Given the description of an element on the screen output the (x, y) to click on. 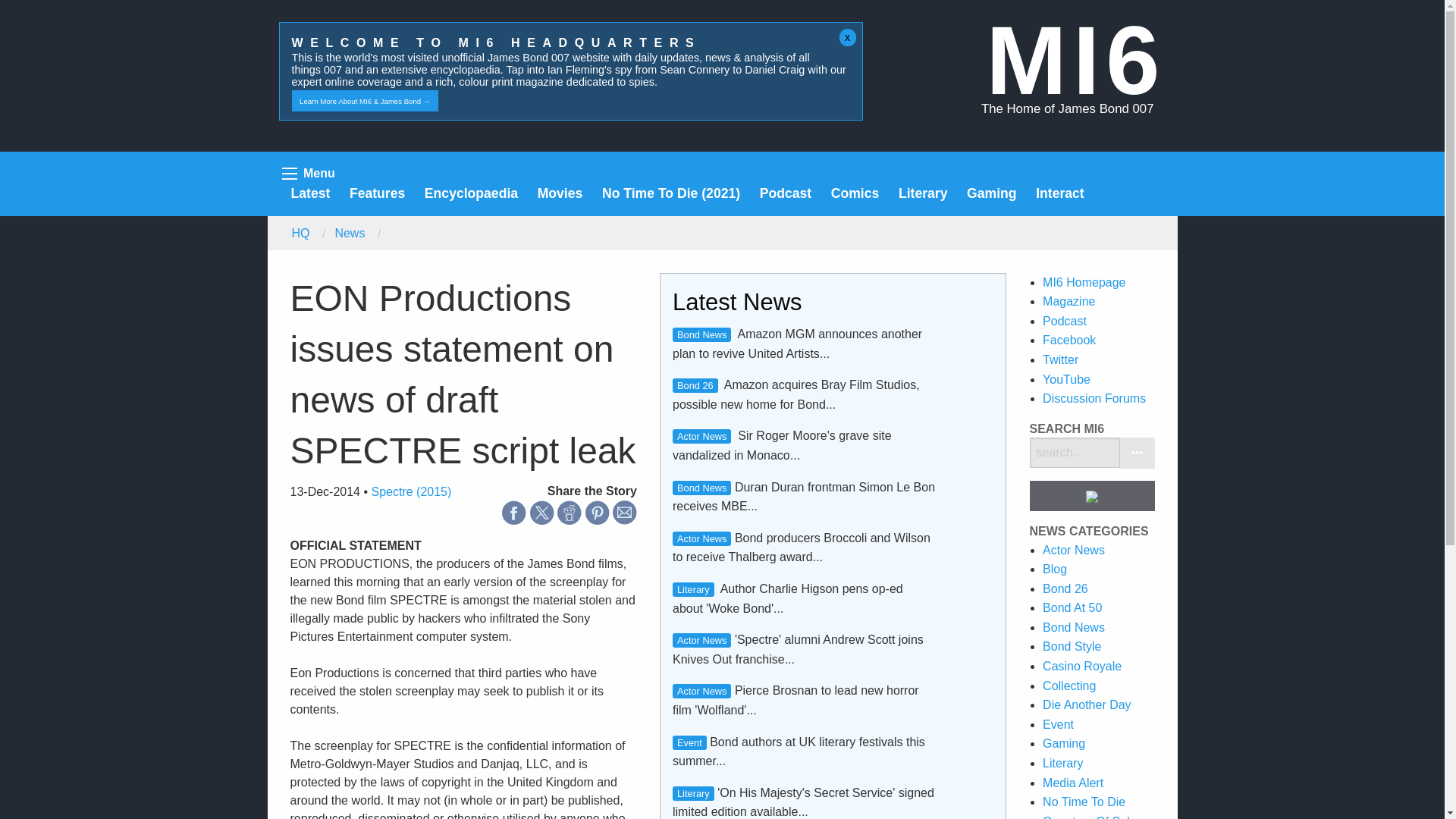
Interact (1059, 192)
x (848, 37)
Movies (560, 192)
Gaming (991, 192)
Literary (922, 192)
Latest (310, 192)
Podcast (785, 192)
Comics (855, 192)
The Home of James Bond 007 (1067, 108)
MI6 (1075, 59)
Features (376, 192)
Encyclopaedia (471, 192)
